Given the description of an element on the screen output the (x, y) to click on. 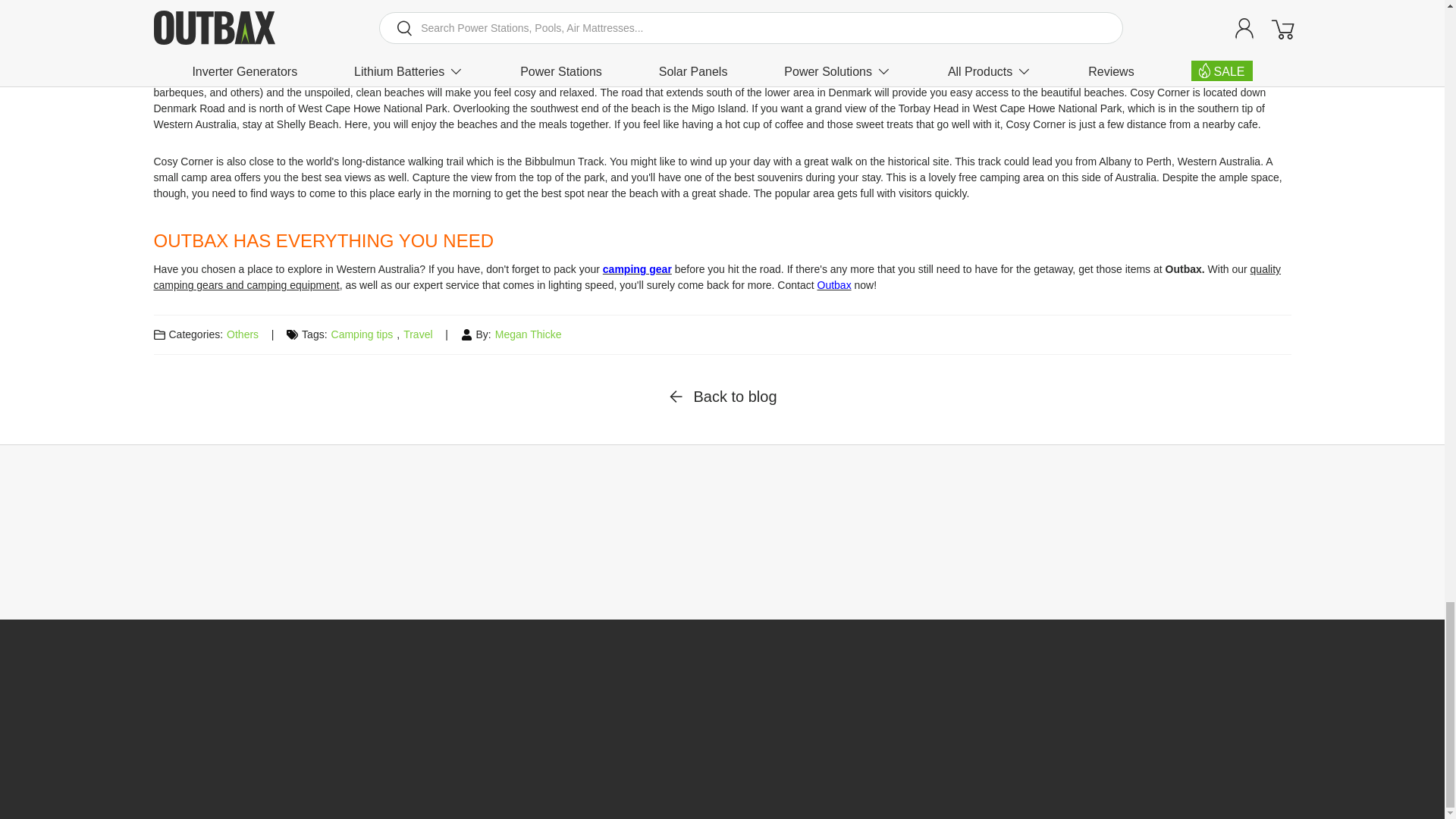
Show articles tagged author::Megan Thicke (528, 334)
The Ultimate Australian Camping Equipment Checklist (716, 276)
